Given the description of an element on the screen output the (x, y) to click on. 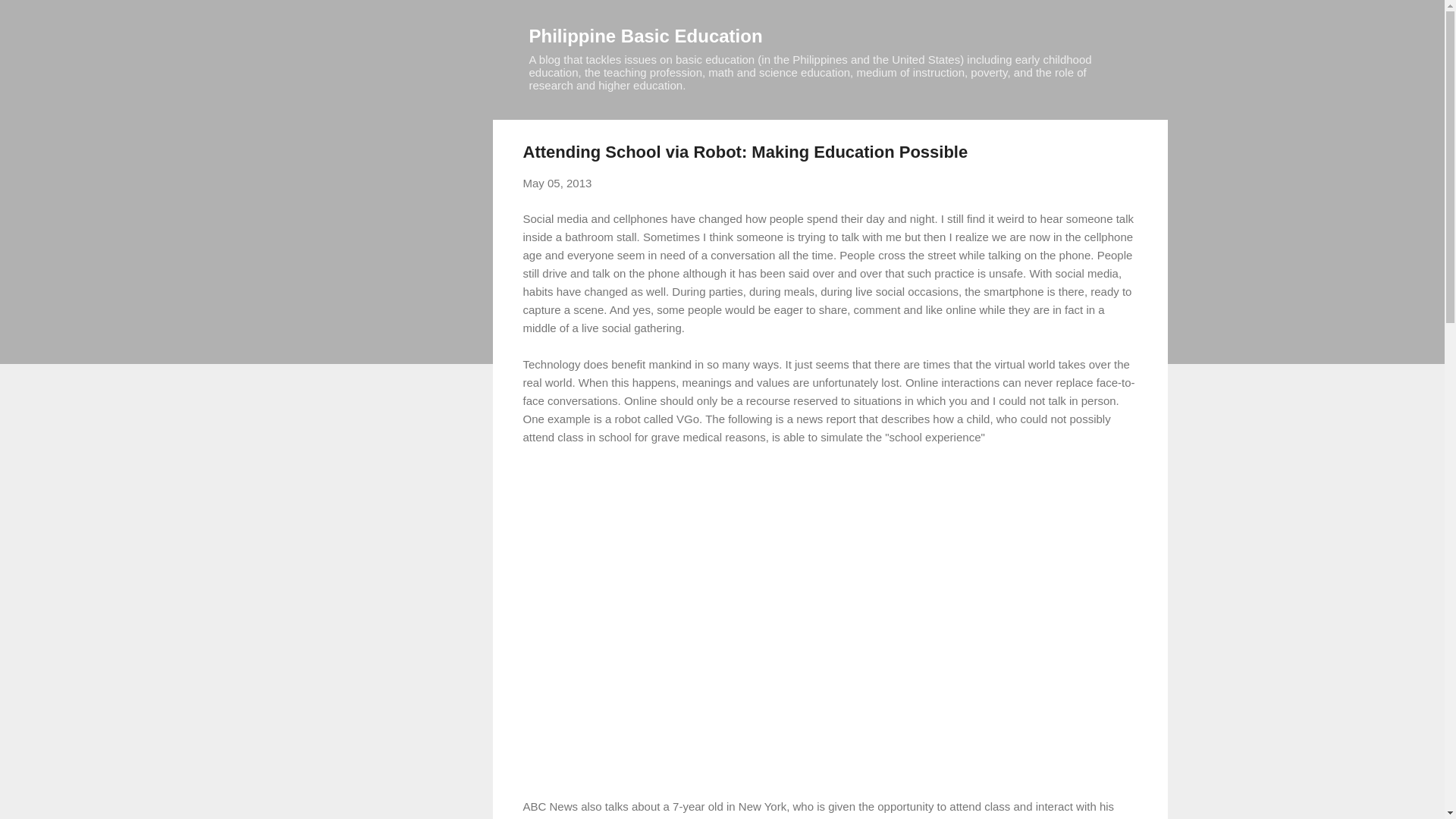
May 05, 2013 (557, 182)
permanent link (557, 182)
Philippine Basic Education (645, 35)
Search (29, 18)
